Given the description of an element on the screen output the (x, y) to click on. 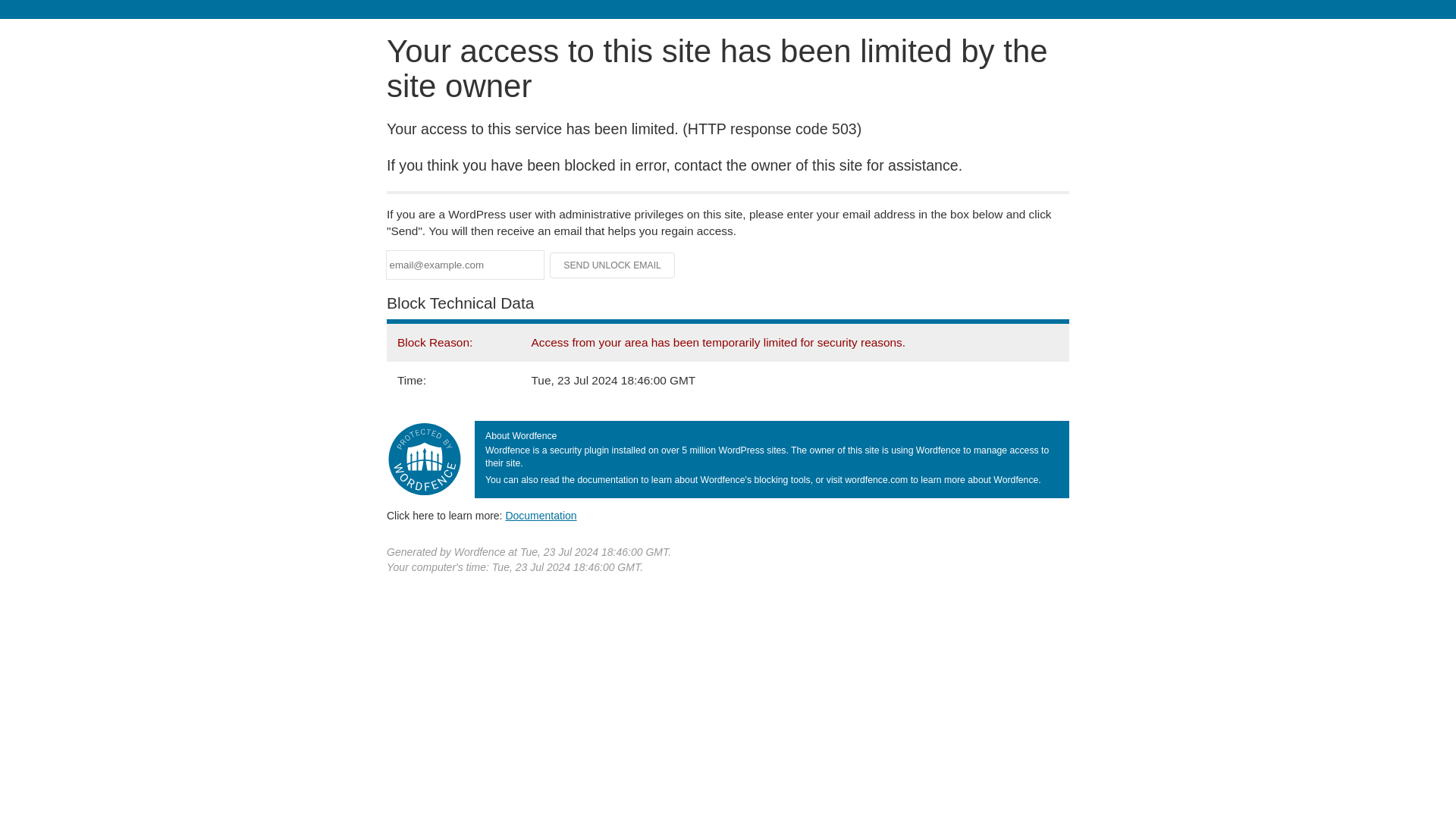
Send Unlock Email (612, 265)
Send Unlock Email (612, 265)
Documentation (540, 515)
